Given the description of an element on the screen output the (x, y) to click on. 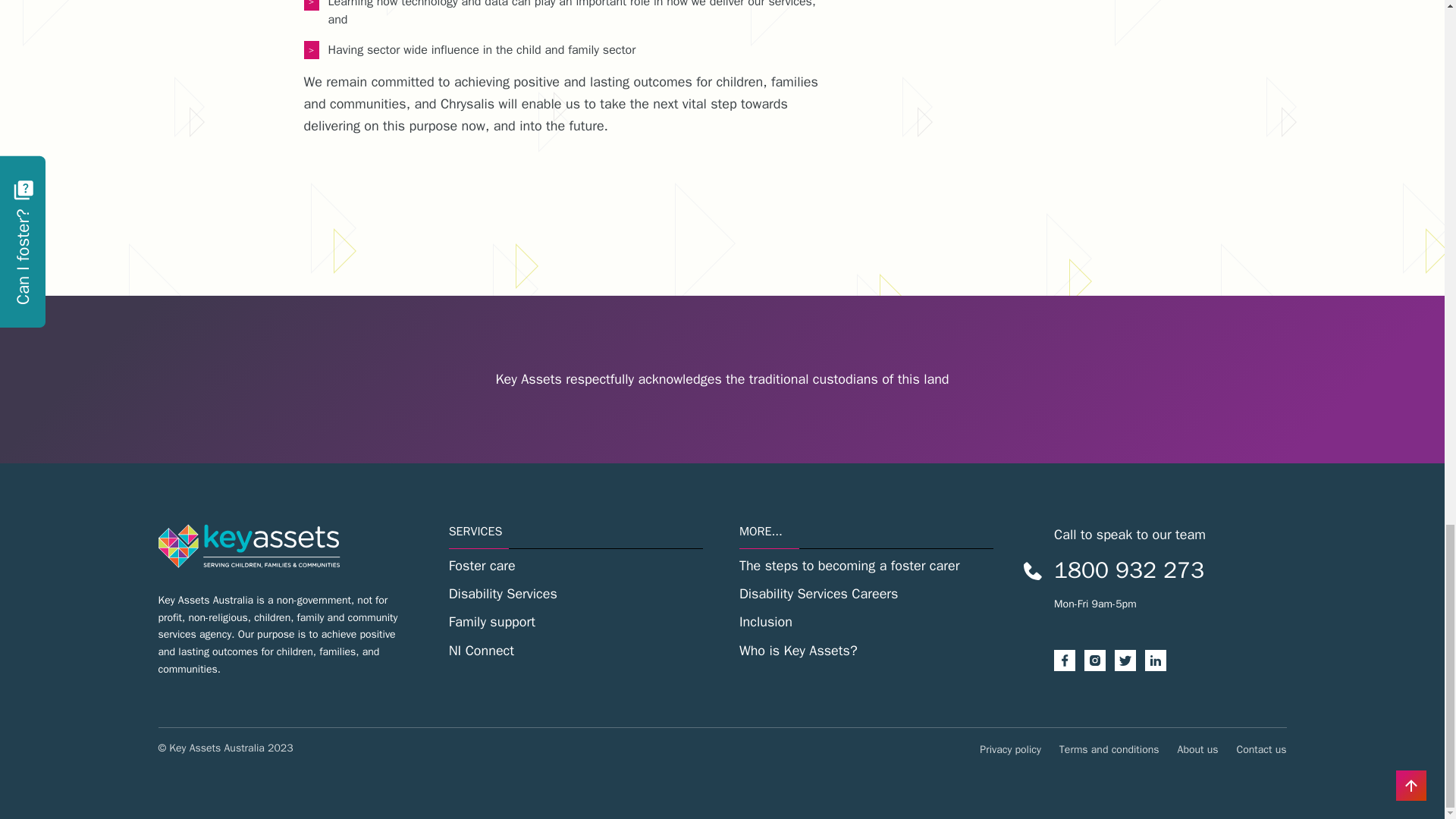
The steps to becoming a foster carer (865, 566)
Disability Services Careers (865, 594)
NI Connect (575, 650)
Foster care (575, 566)
Disability Services (575, 594)
linkedin (1159, 659)
twitter (1129, 659)
Who is Key Assets? (865, 650)
1800 932 273 (1129, 570)
facebook (1069, 659)
Inclusion (865, 621)
Family support (575, 621)
instagram (1099, 659)
